Given the description of an element on the screen output the (x, y) to click on. 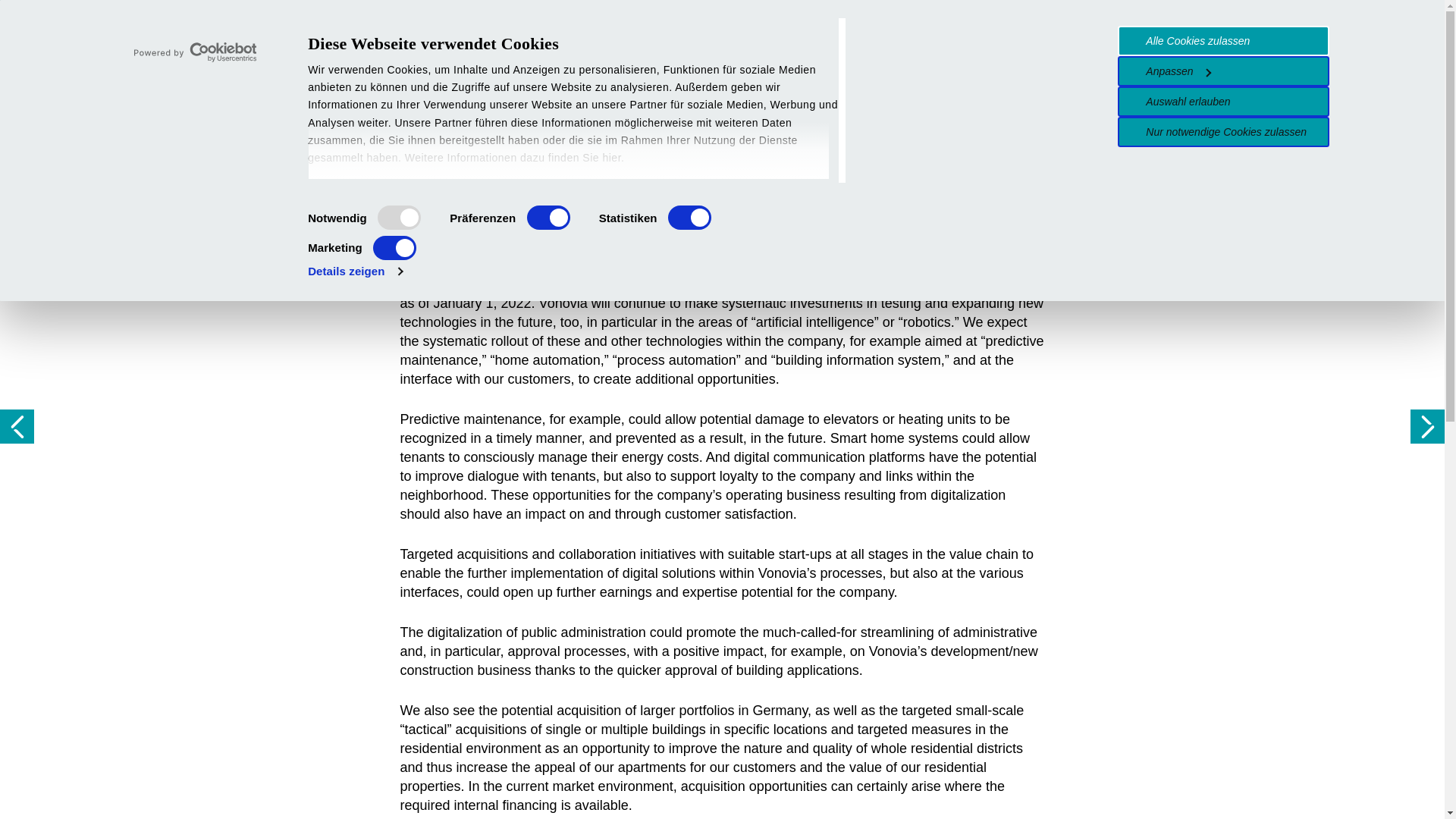
Details zeigen (355, 271)
Vonovia (302, 49)
Report Switch (1200, 51)
